Given the description of an element on the screen output the (x, y) to click on. 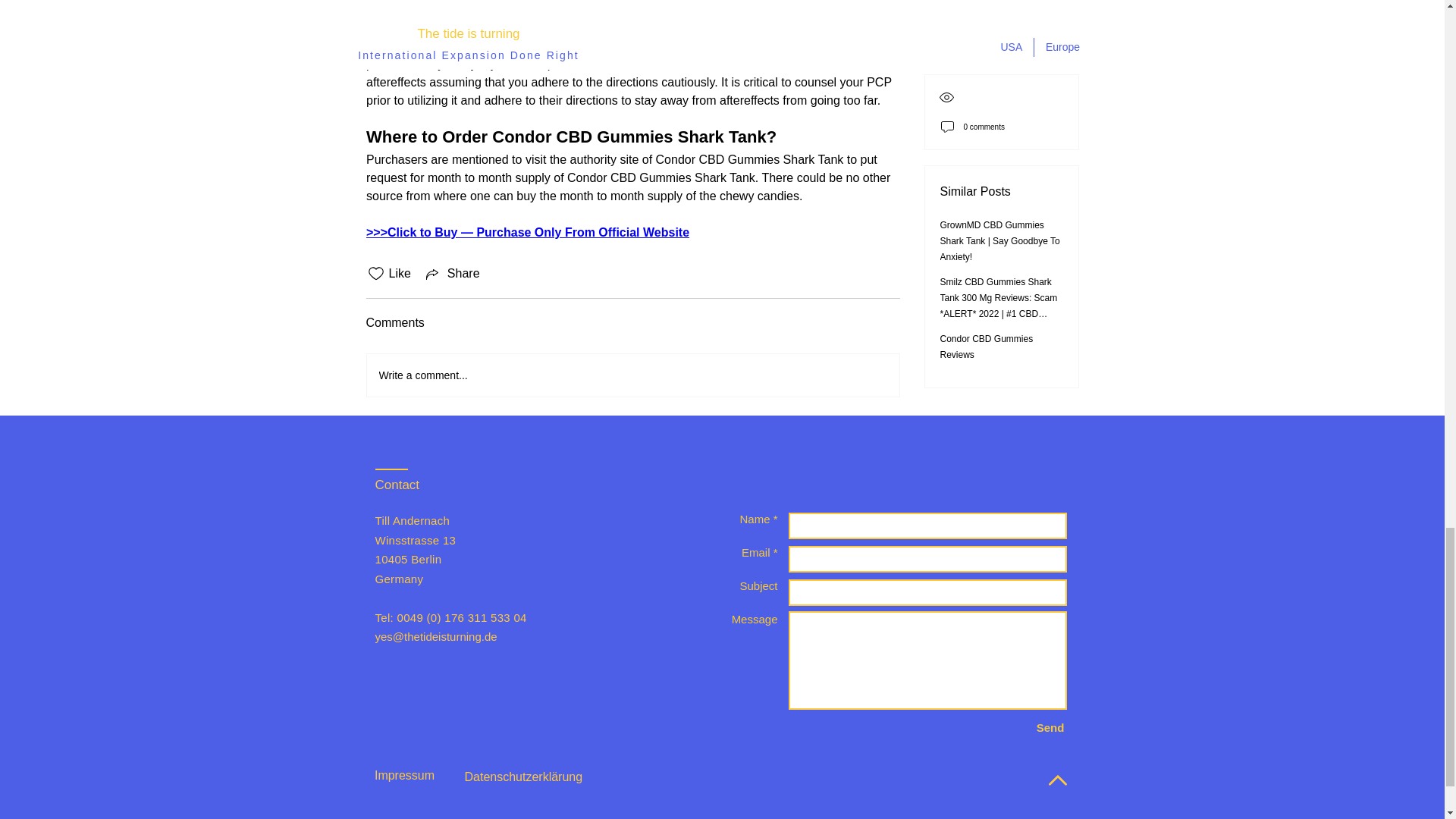
Send (1050, 727)
Write a comment... (632, 374)
Impressum (404, 775)
Share (451, 273)
